Given the description of an element on the screen output the (x, y) to click on. 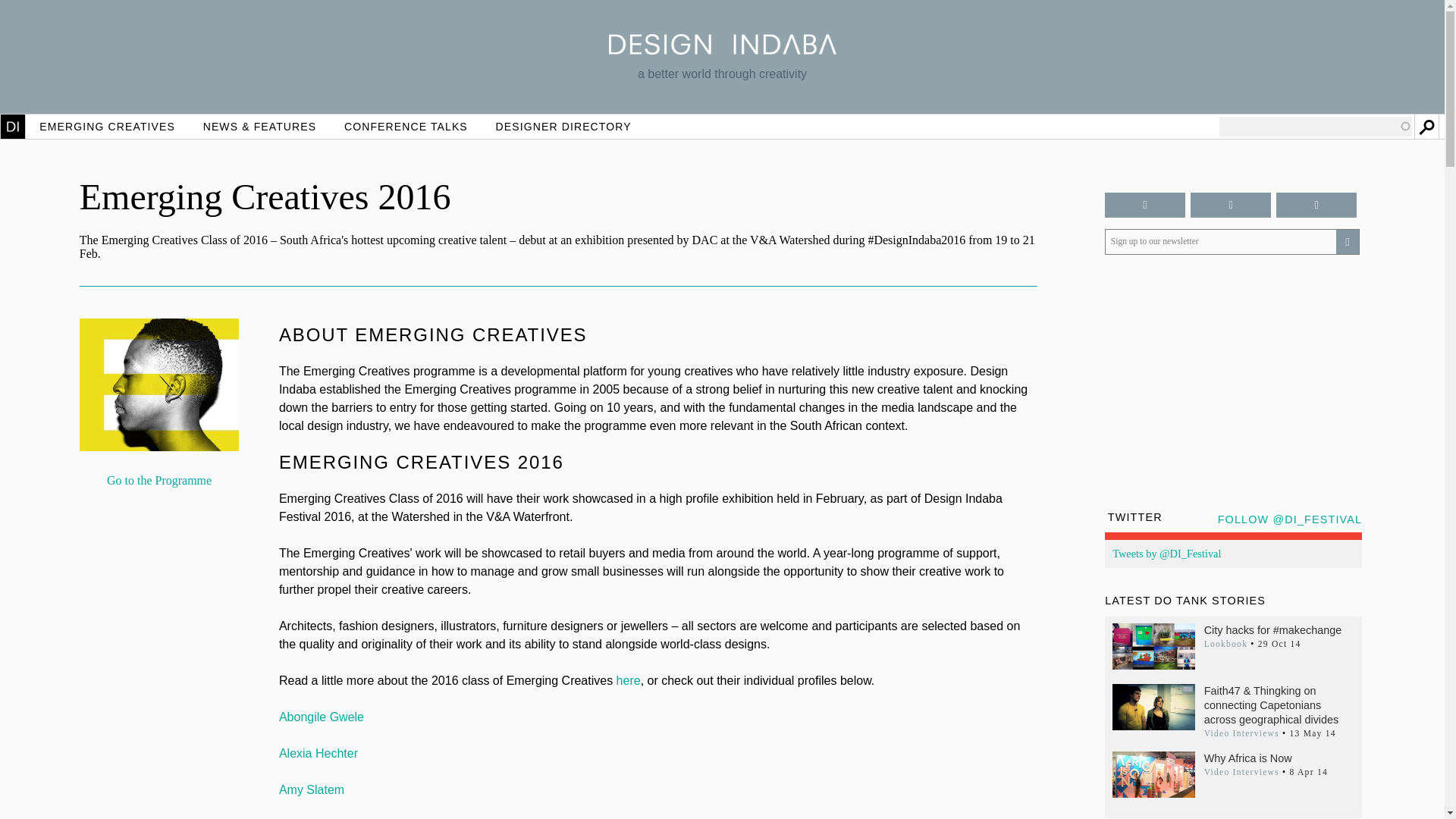
EMERGING CREATIVES (107, 126)
CONFERENCE TALKS (405, 126)
Go to the Programme (158, 480)
Apply (1426, 126)
Abongile Gwele (321, 716)
Amy Slatem (311, 789)
Apply (1426, 126)
Home (721, 50)
here (627, 680)
Alexia Hechter (318, 753)
HOME (13, 126)
DESIGNER DIRECTORY (563, 126)
